Given the description of an element on the screen output the (x, y) to click on. 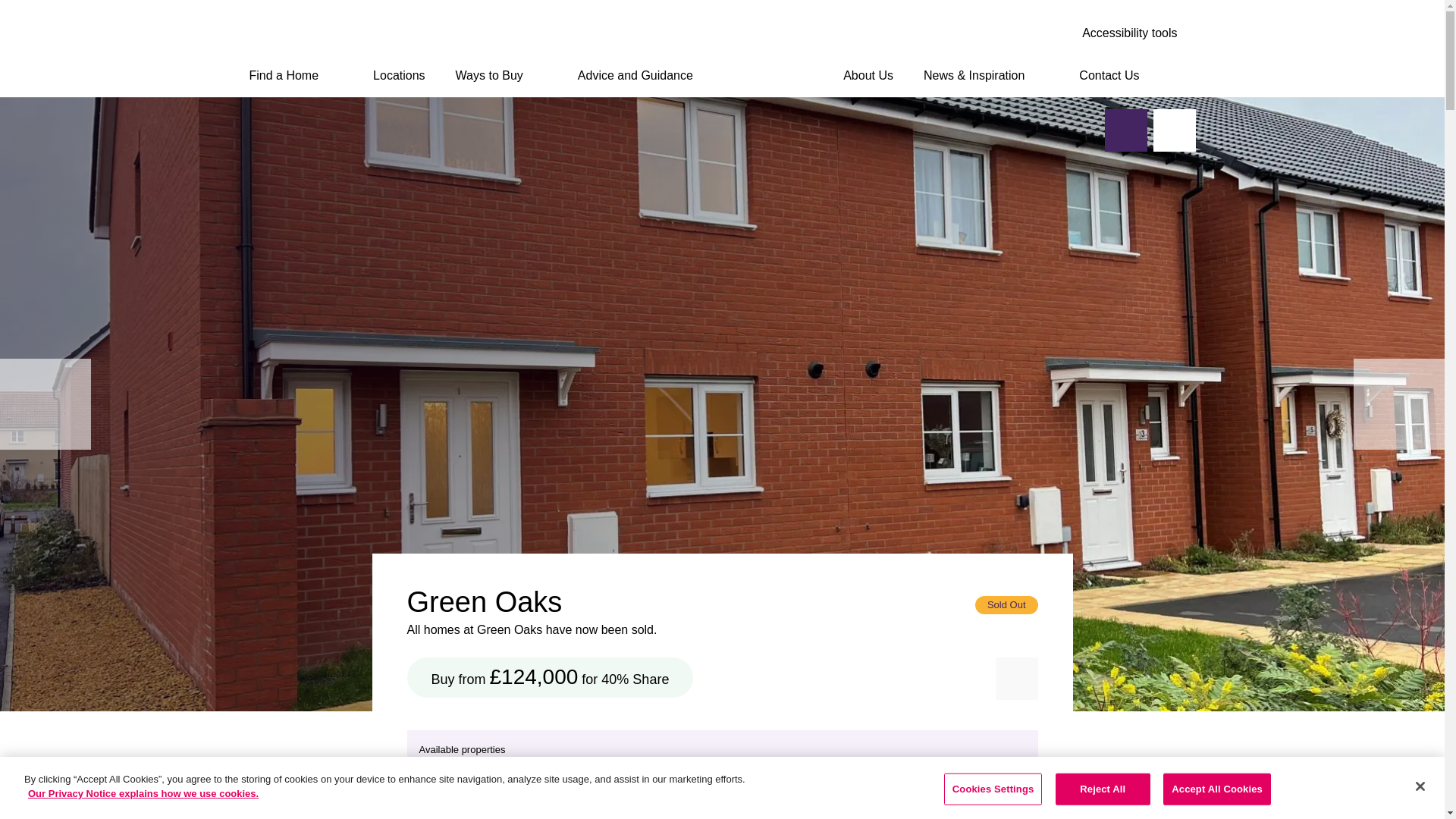
Calculate your affordability (717, 36)
Ways to Buy (501, 75)
Accessibility tools (1128, 33)
Launch calculator (986, 36)
About Us (868, 75)
Existing Customer Resources (328, 31)
Advice and Guidance (647, 75)
Locations (398, 75)
Find out more (1032, 36)
Off-Plan Property (295, 2)
